Given the description of an element on the screen output the (x, y) to click on. 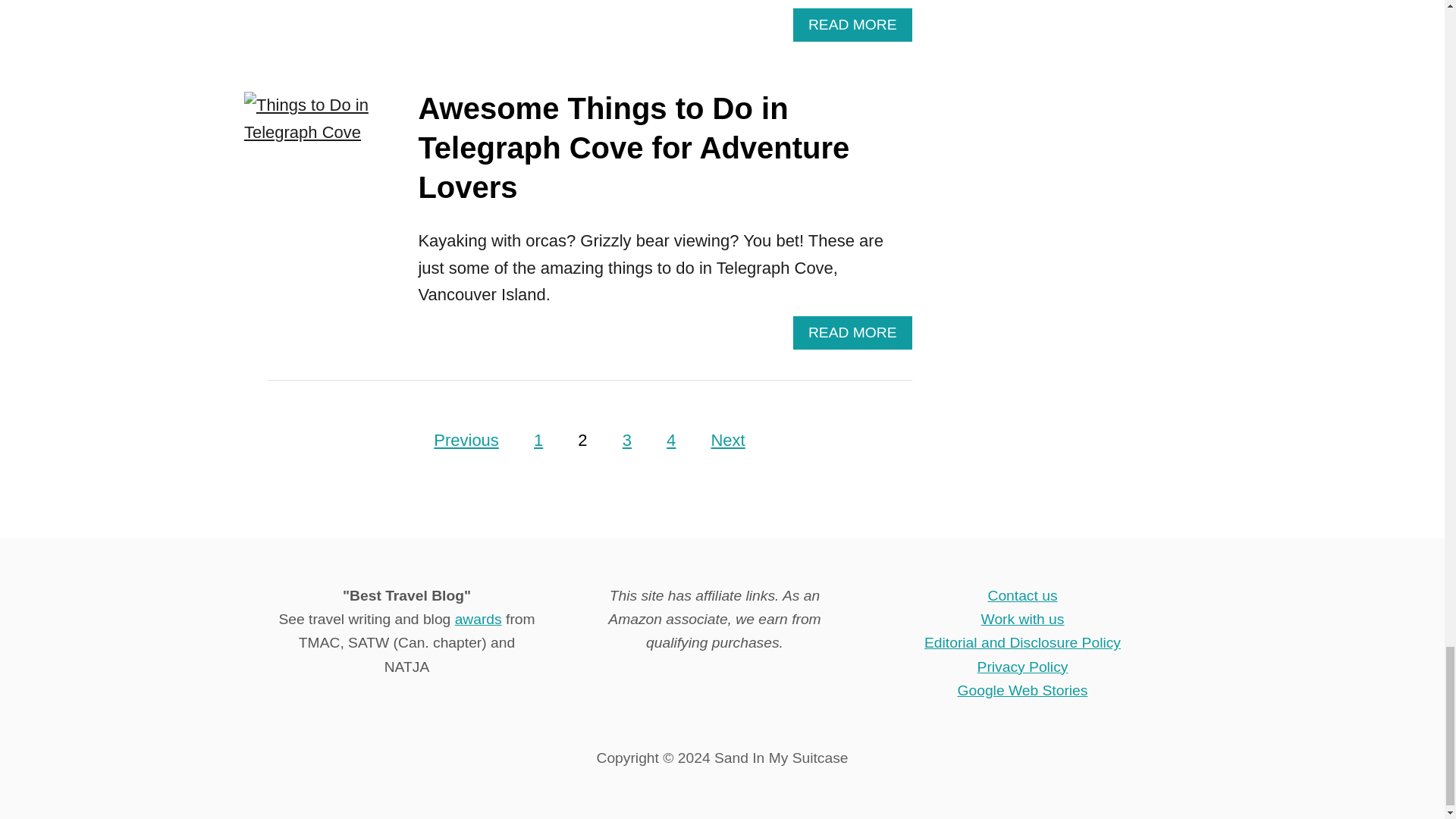
Hiking the Old Fort Point Trail in Jasper National Park (335, 29)
